Given the description of an element on the screen output the (x, y) to click on. 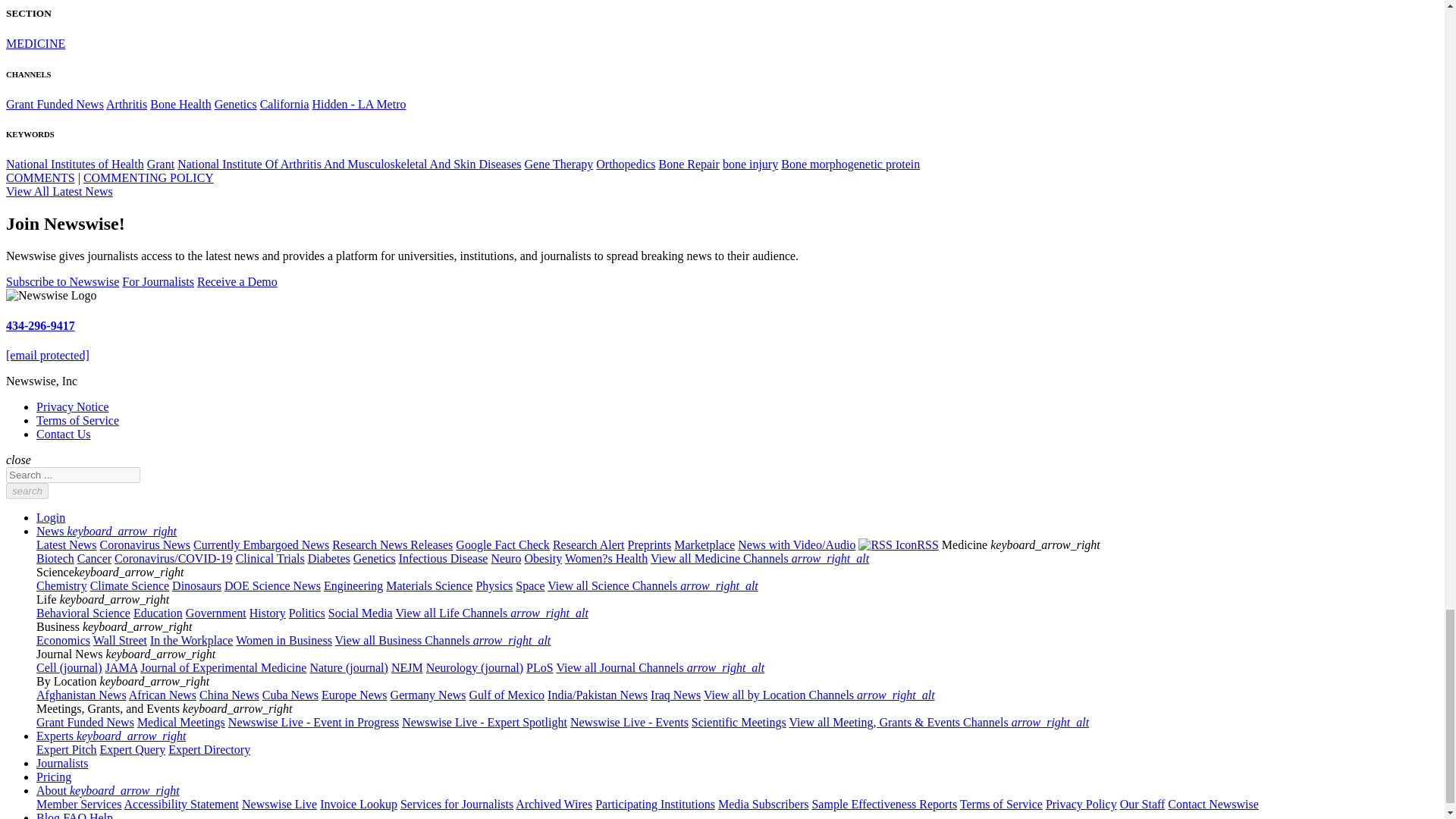
Show all articles in this channel (35, 42)
Show all articles in this channel (180, 103)
Show all articles in this channel (54, 103)
